Given the description of an element on the screen output the (x, y) to click on. 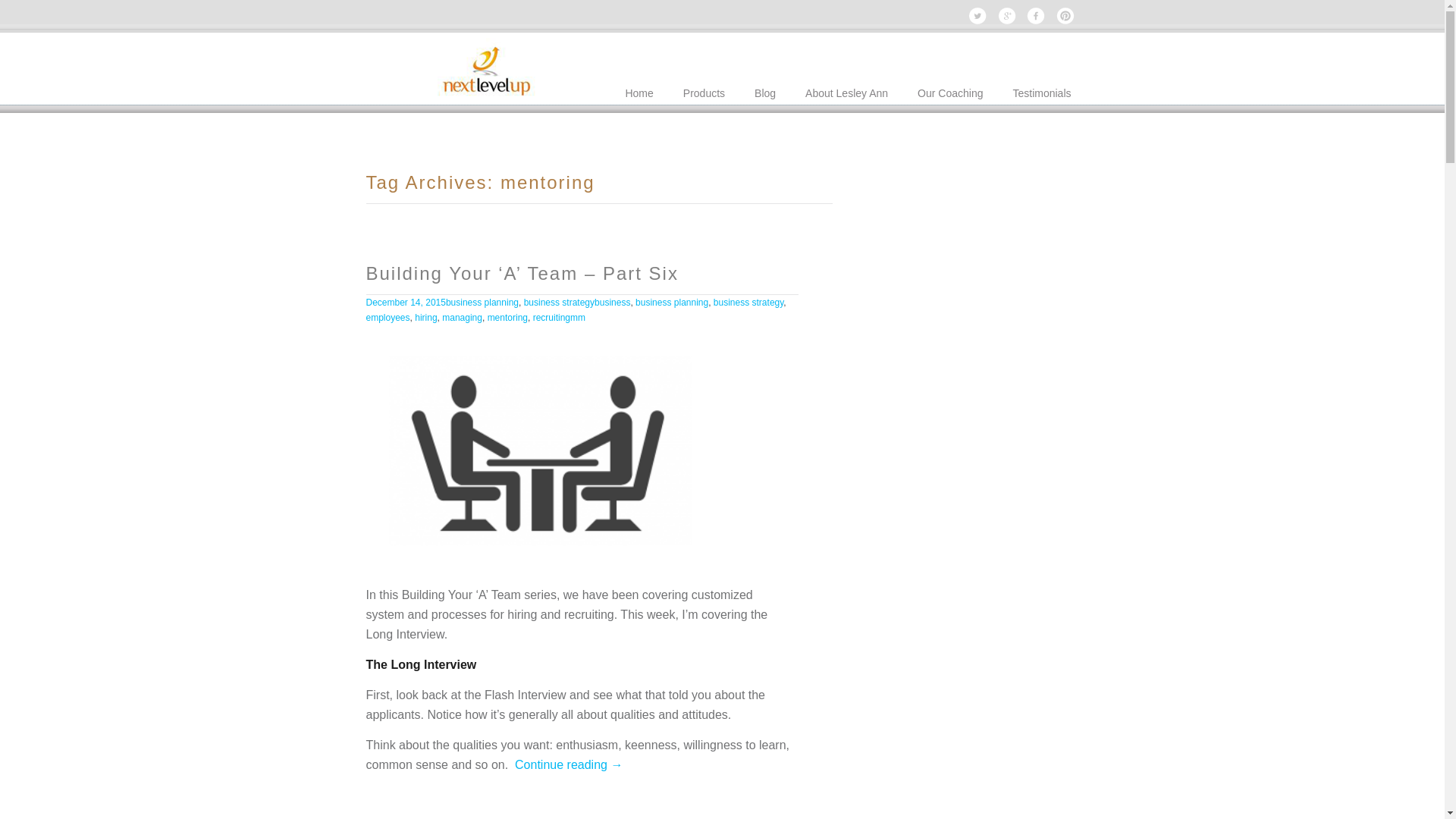
Blog Element type: text (765, 87)
employees Element type: text (387, 317)
business planning Element type: text (481, 302)
Products Element type: text (703, 87)
business strategy Element type: text (748, 302)
December 14, 2015 Element type: text (405, 302)
managing Element type: text (462, 317)
Home Element type: text (638, 87)
mentoring Element type: text (507, 317)
hiring Element type: text (425, 317)
Our Coaching Element type: text (950, 87)
business strategy Element type: text (559, 302)
recruiting Element type: text (551, 317)
business Element type: text (612, 302)
business planning Element type: text (671, 302)
mm Element type: text (577, 317)
Testimonials Element type: text (1041, 87)
About Lesley Ann Element type: text (846, 87)
